Given the description of an element on the screen output the (x, y) to click on. 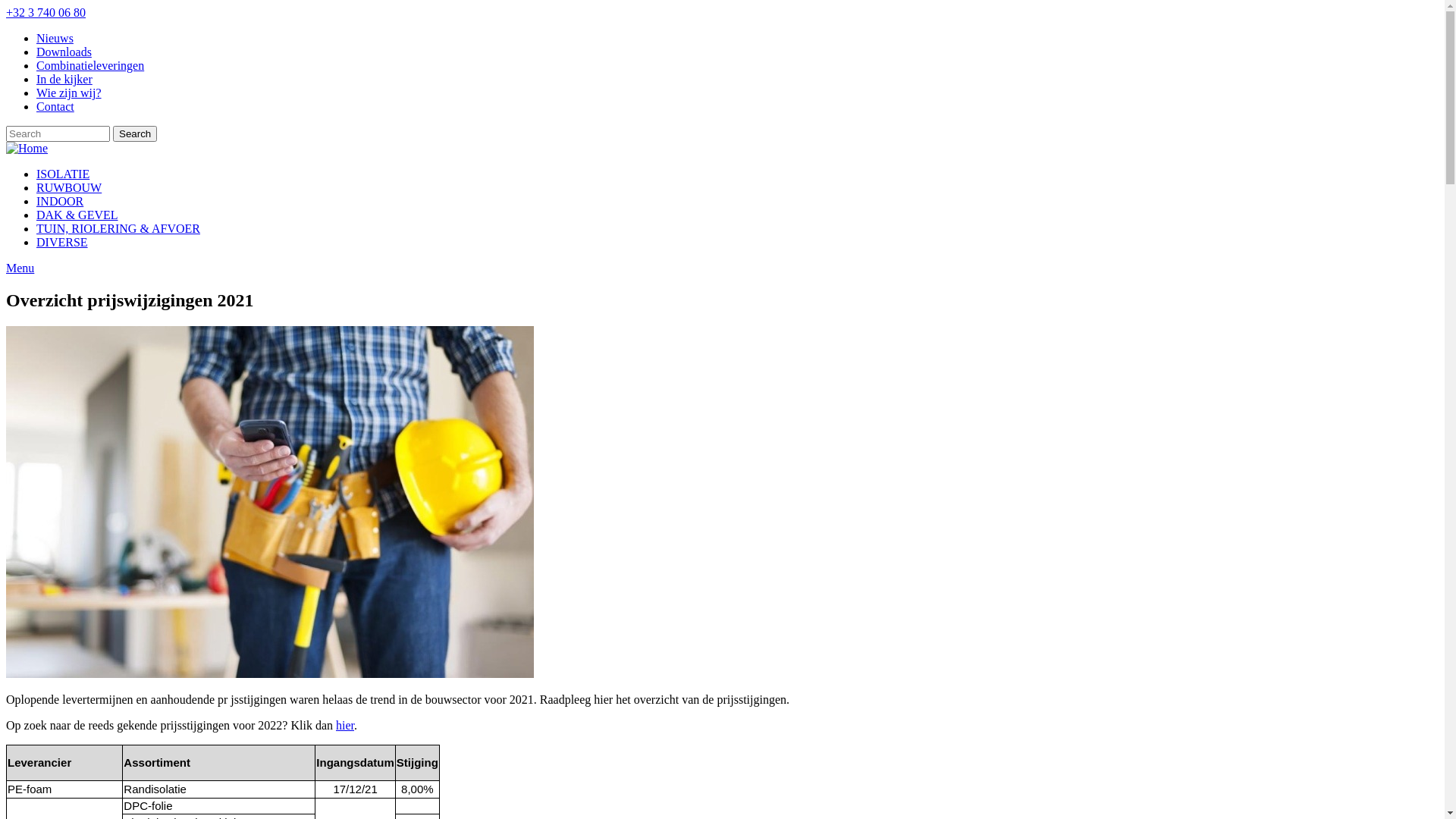
+32 3 740 06 80 Element type: text (45, 12)
Overslaan en naar de inhoud gaan Element type: text (6, 6)
Nieuws Element type: text (54, 37)
ISOLATIE Element type: text (62, 173)
Combinatieleveringen Element type: text (90, 65)
Contact Element type: text (55, 106)
DAK & GEVEL Element type: text (77, 214)
Downloads Element type: text (63, 51)
Geef de woorden op waarnaar u wilt zoeken. Element type: hover (57, 133)
RUWBOUW Element type: text (68, 187)
In de kijker Element type: text (64, 78)
Search Element type: text (134, 133)
Wie zijn wij? Element type: text (68, 92)
INDOOR Element type: text (59, 200)
TUIN, RIOLERING & AFVOER Element type: text (118, 228)
Menu Element type: text (722, 267)
DIVERSE Element type: text (61, 241)
hier Element type: text (344, 724)
